Given the description of an element on the screen output the (x, y) to click on. 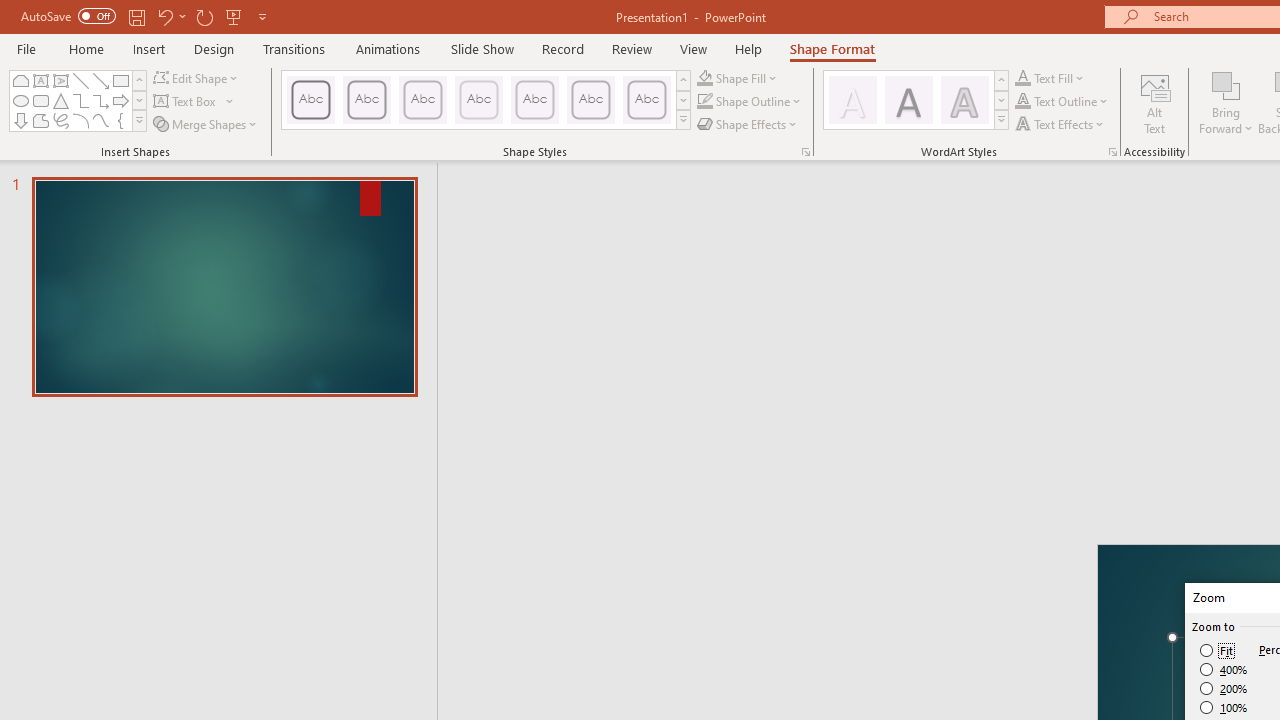
Colored Outline - Gold, Accent 3 (478, 100)
Colored Outline - Green, Accent 4 (534, 100)
